Given the description of an element on the screen output the (x, y) to click on. 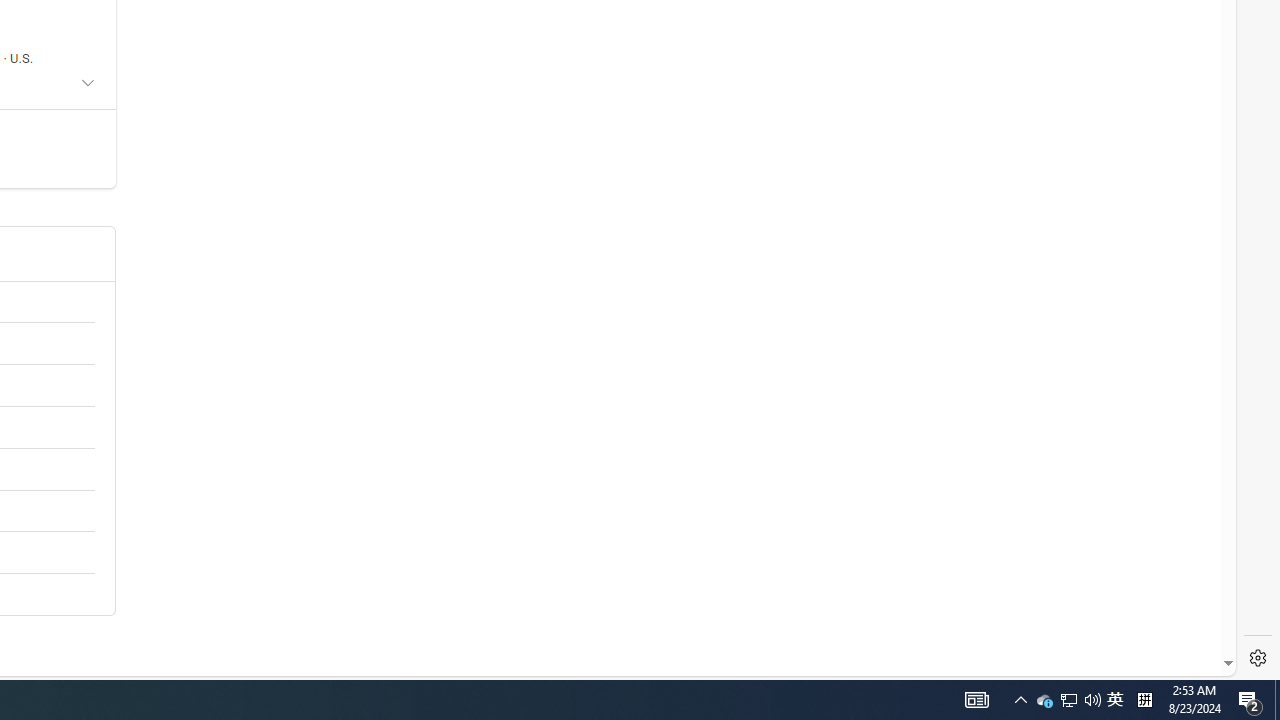
AutomationID: mfa_root (1153, 603)
Search more (1182, 604)
